Given the description of an element on the screen output the (x, y) to click on. 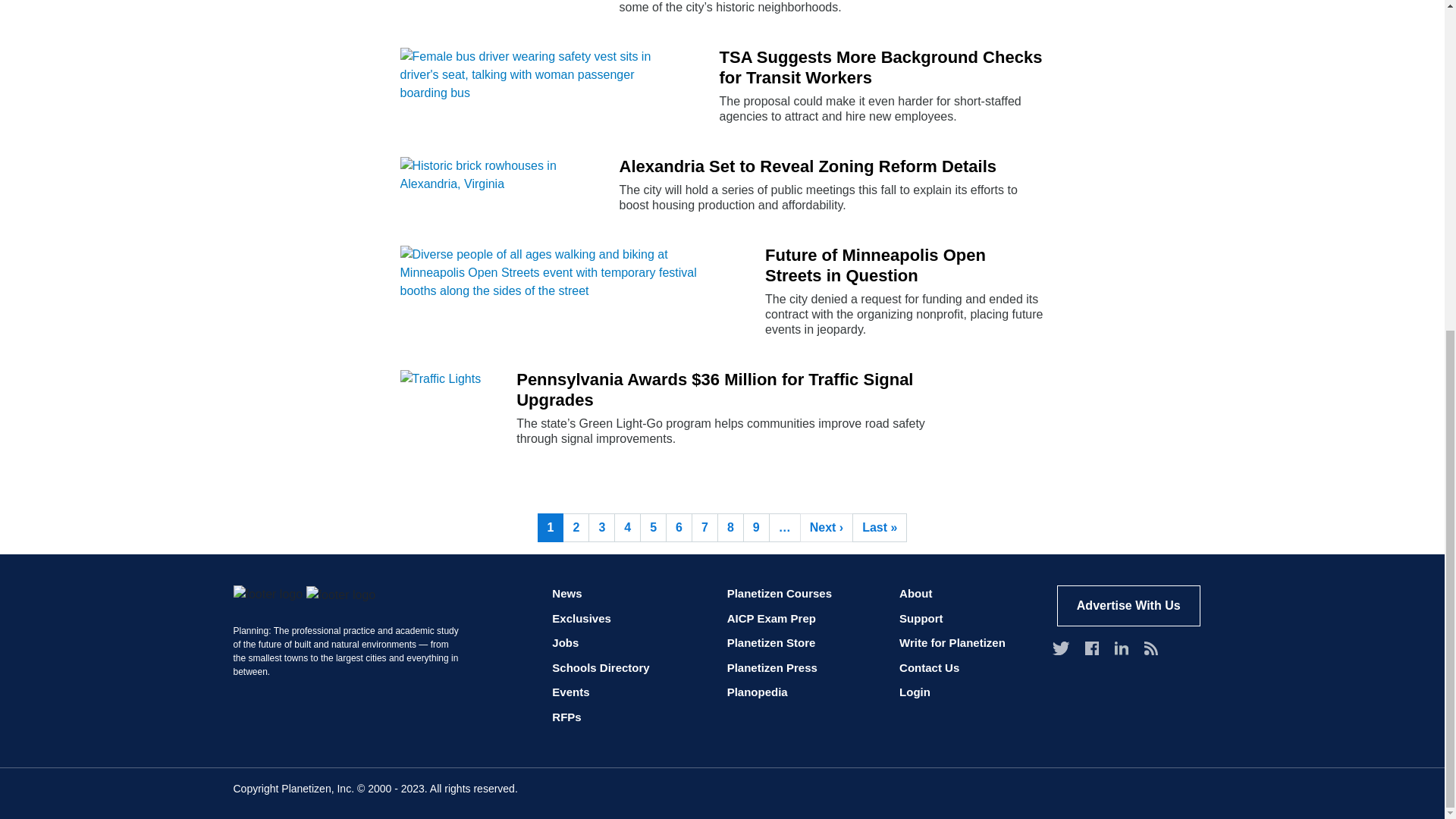
5 (653, 527)
8 (730, 527)
TSA Suggests More Background Checks for Transit Workers (882, 67)
2 (575, 527)
7 (704, 527)
Alexandria Set to Reveal Zoning Reform Details (830, 166)
Go to next page (826, 527)
Future of Minneapolis Open Streets in Question (904, 265)
Go to last page (879, 527)
6 (679, 527)
